Given the description of an element on the screen output the (x, y) to click on. 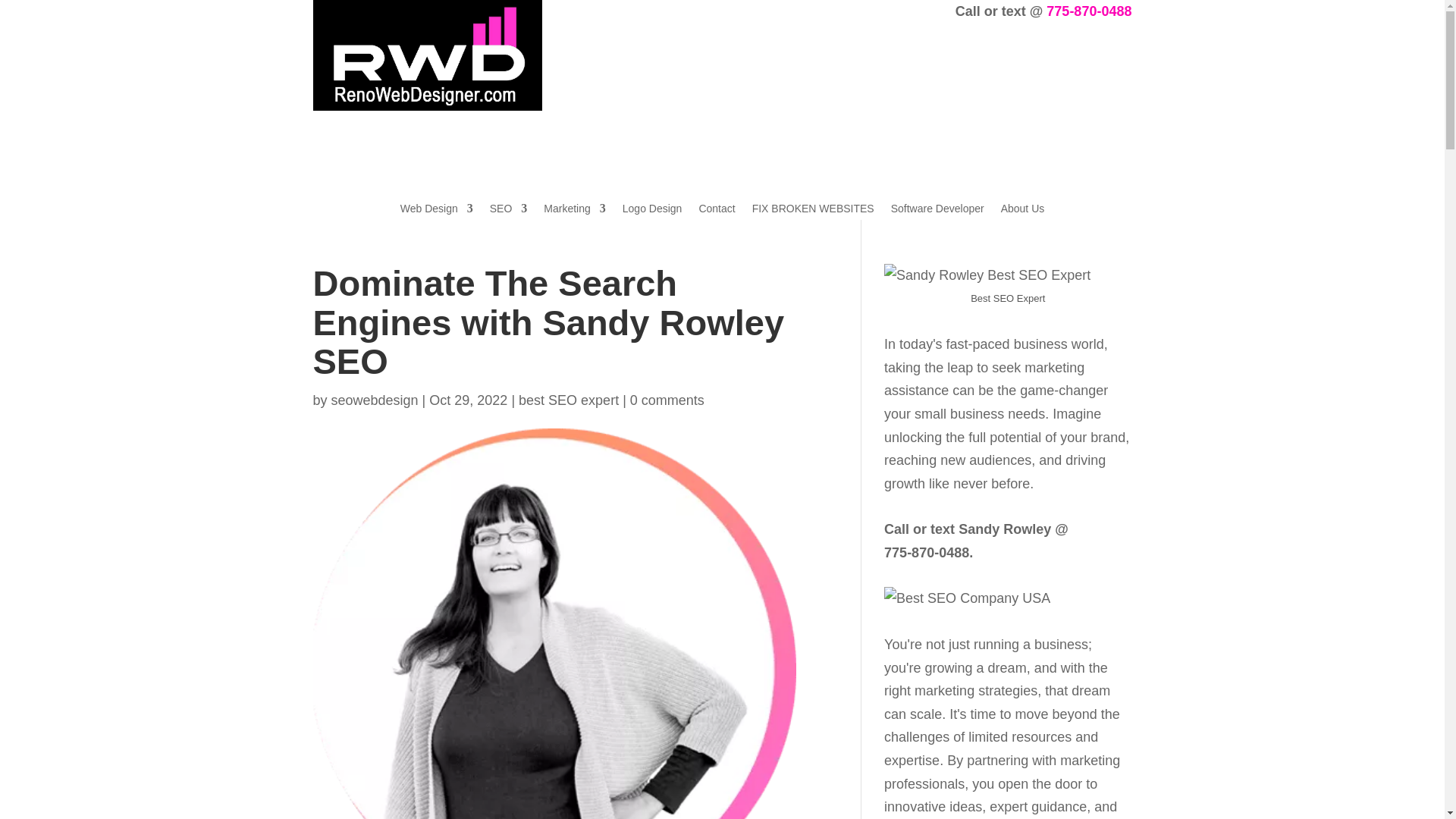
Posts by seowebdesign (375, 400)
Software Developer (937, 211)
Marketing (574, 211)
Contact (716, 211)
best SEO expert (568, 400)
775-870-0488 (1088, 11)
FIX BROKEN WEBSITES (813, 211)
Web Design (436, 211)
seowebdesign (375, 400)
SEO (508, 211)
